Given the description of an element on the screen output the (x, y) to click on. 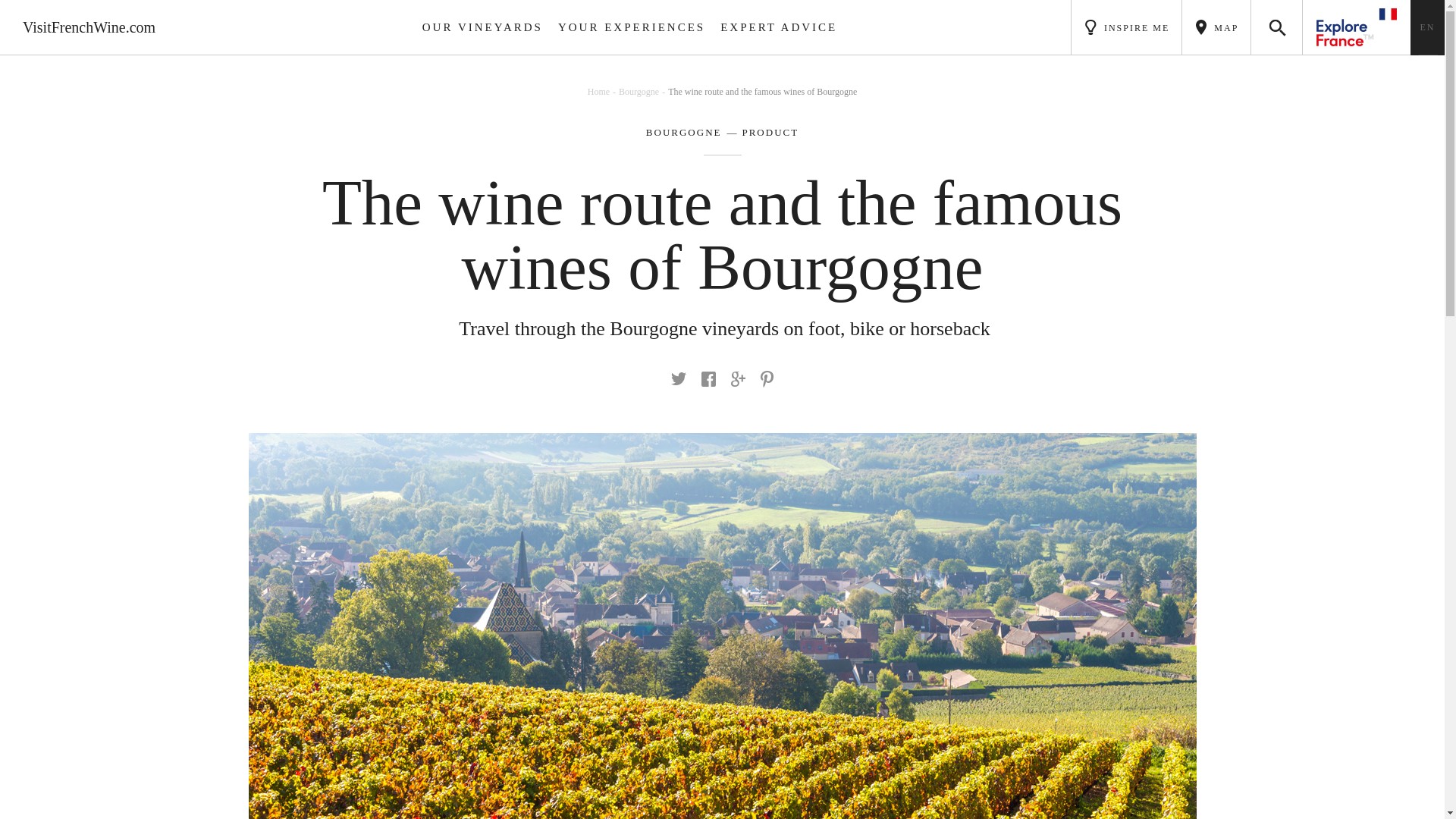
france.fr (1356, 27)
Visit French Wine (89, 27)
MAP (1216, 27)
Visit 100006935107654 on Facebook (708, 378)
Page vignoble Bourgogne (684, 133)
Tweet this (678, 378)
PRODUCT (759, 133)
INSPIRE ME (1125, 27)
Bourgogne (643, 91)
